Given the description of an element on the screen output the (x, y) to click on. 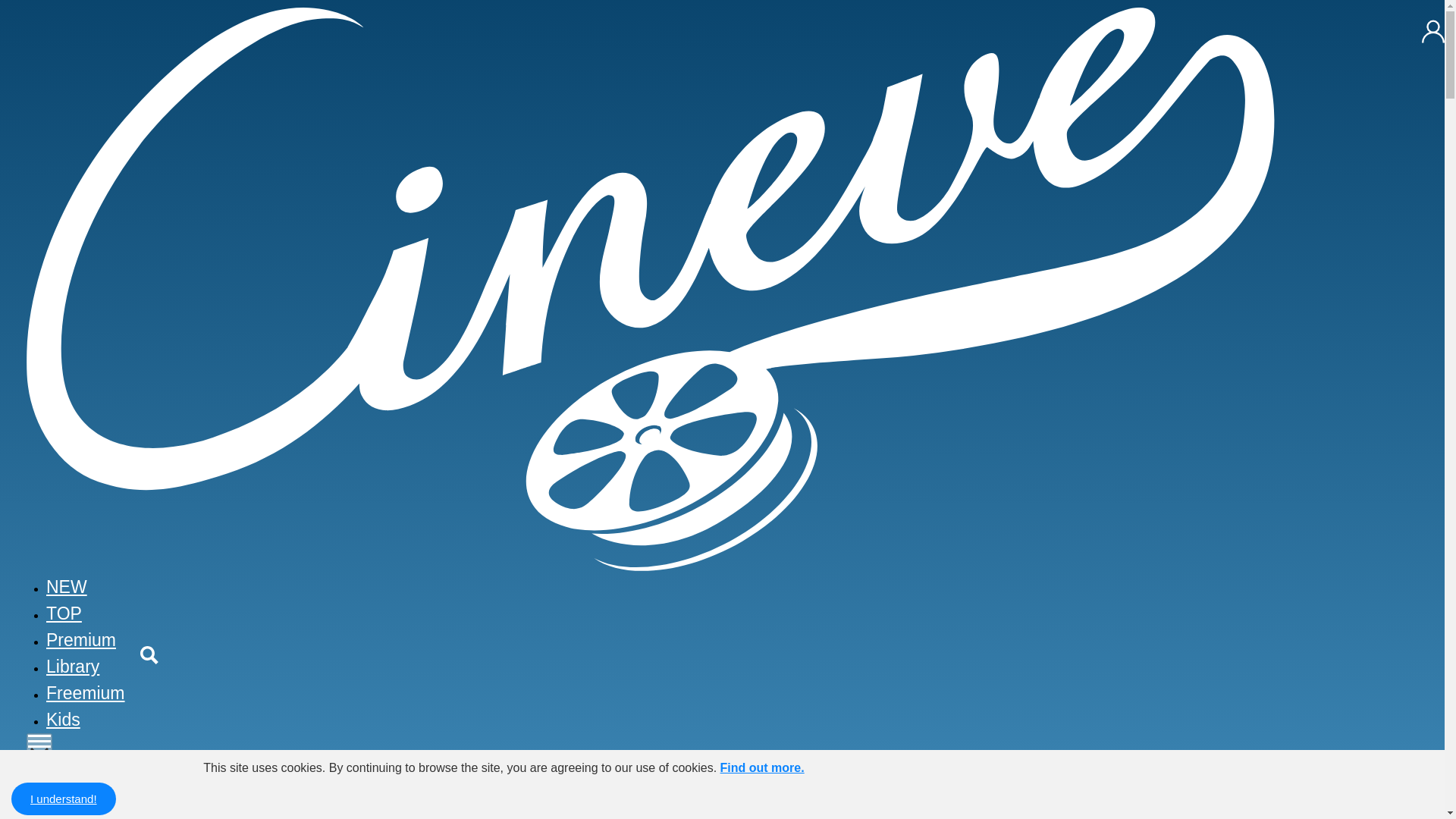
Freemium (85, 692)
TOP (63, 613)
Kids (63, 719)
Search (1207, 774)
Library (72, 666)
Premium (81, 639)
NEW (66, 587)
